Given the description of an element on the screen output the (x, y) to click on. 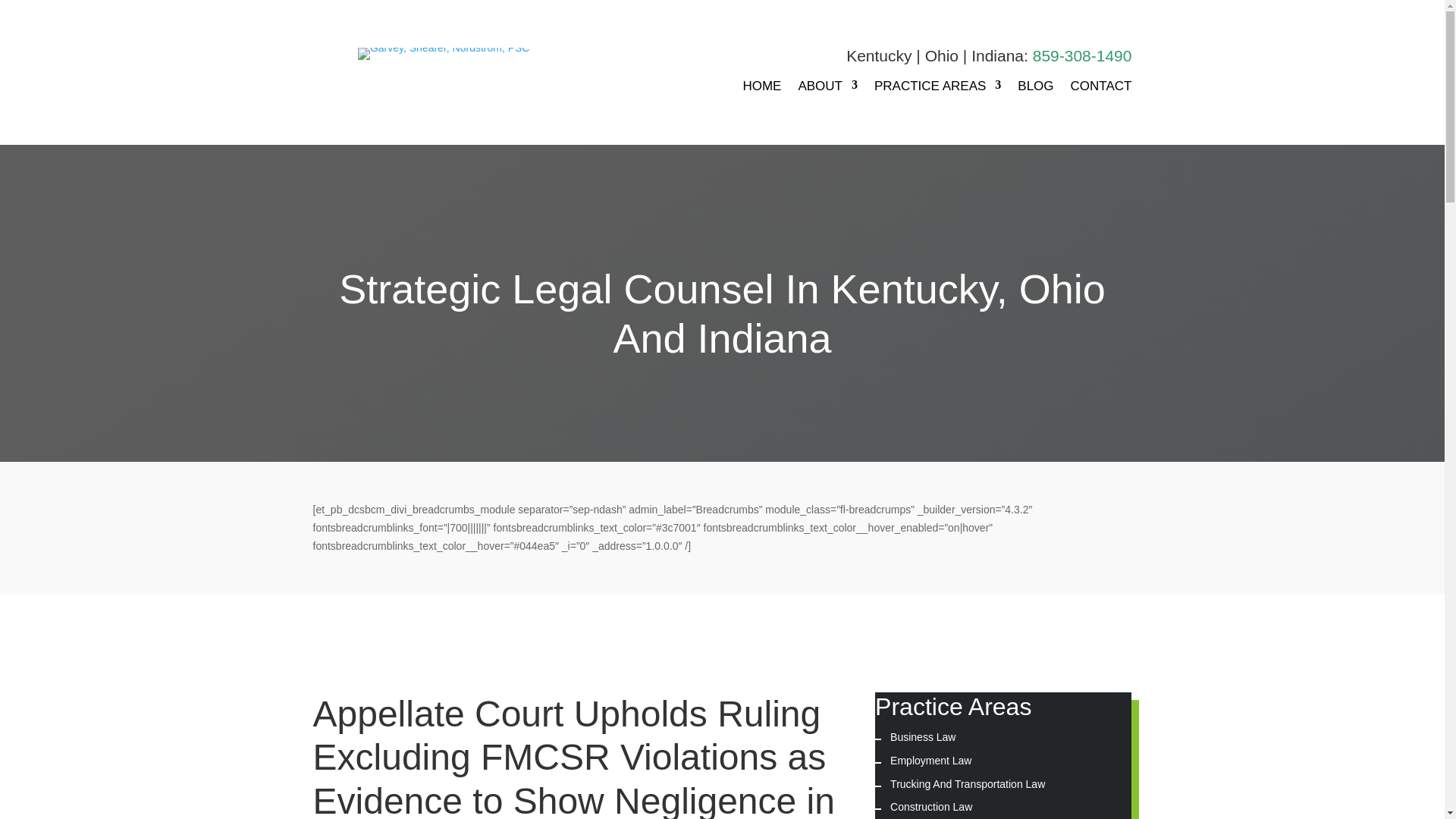
BLOG (1034, 94)
CONTACT (1101, 94)
ABOUT (827, 94)
PRACTICE AREAS (938, 94)
HOME (761, 94)
gsn-og-image (443, 53)
